Given the description of an element on the screen output the (x, y) to click on. 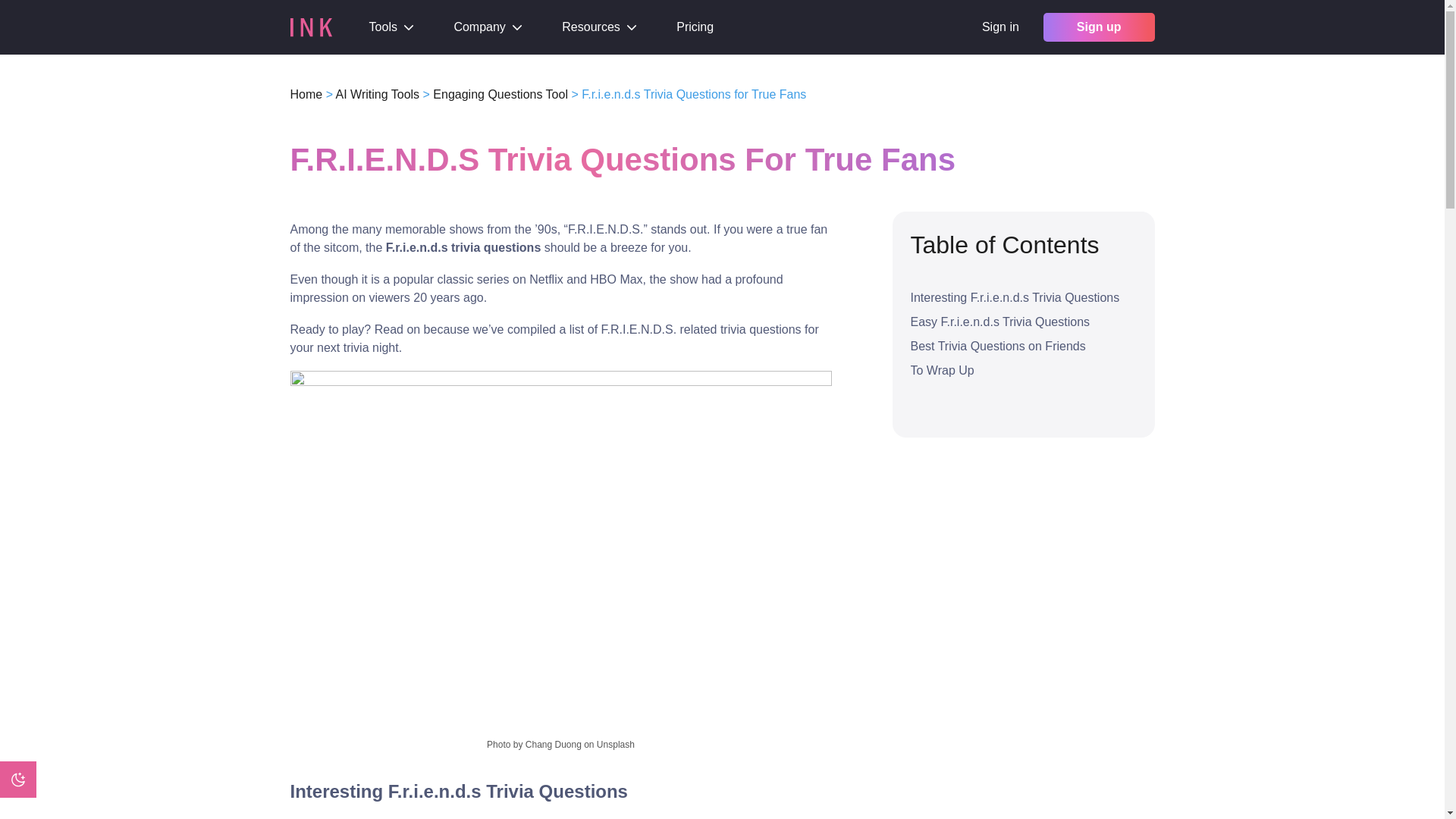
Sign up (1098, 27)
Sign in (1000, 27)
Pricing (694, 27)
